Given the description of an element on the screen output the (x, y) to click on. 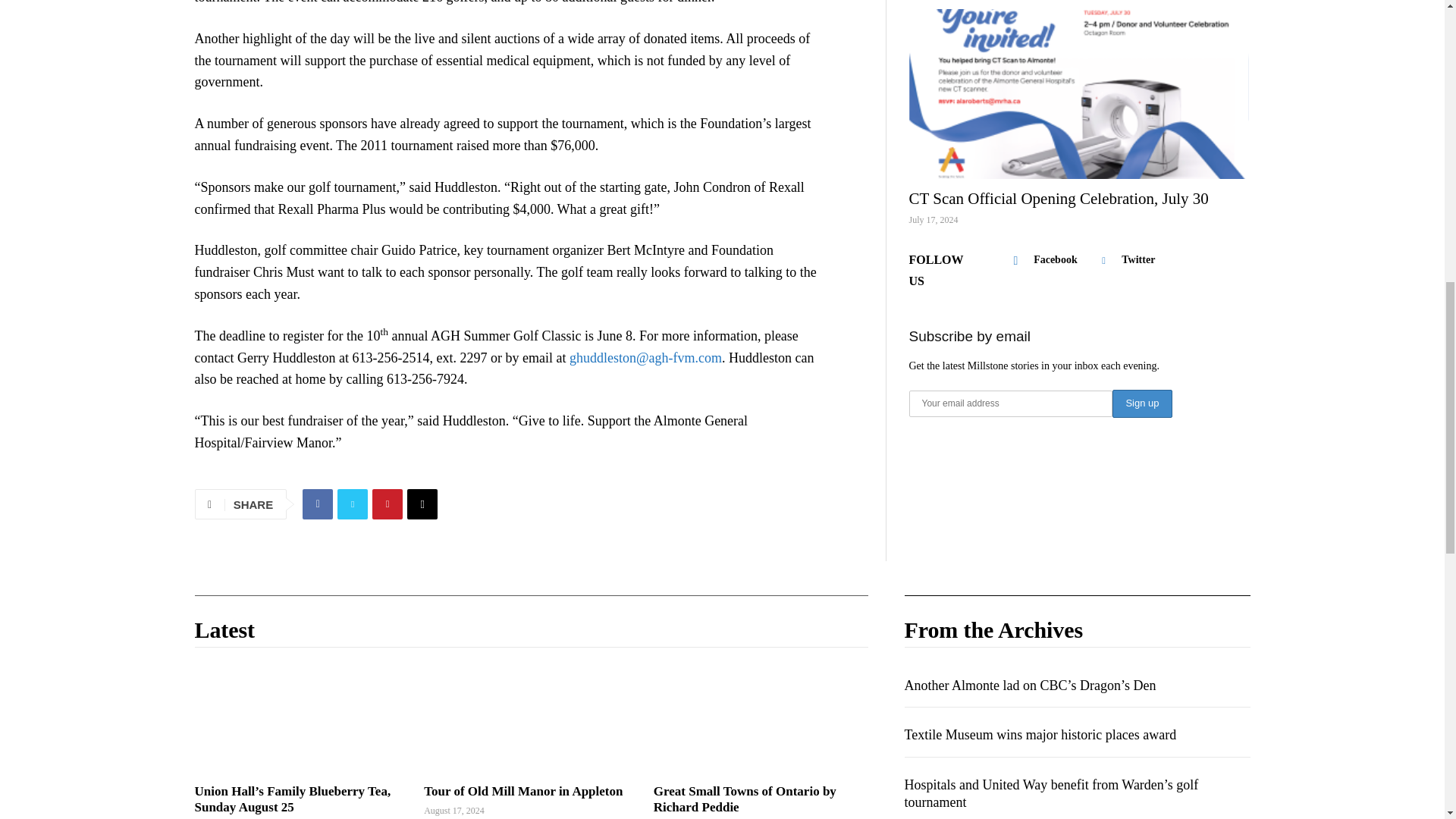
Pinterest (387, 503)
Email (422, 503)
Twitter (352, 503)
Sign up (1142, 403)
Facebook (317, 503)
